Given the description of an element on the screen output the (x, y) to click on. 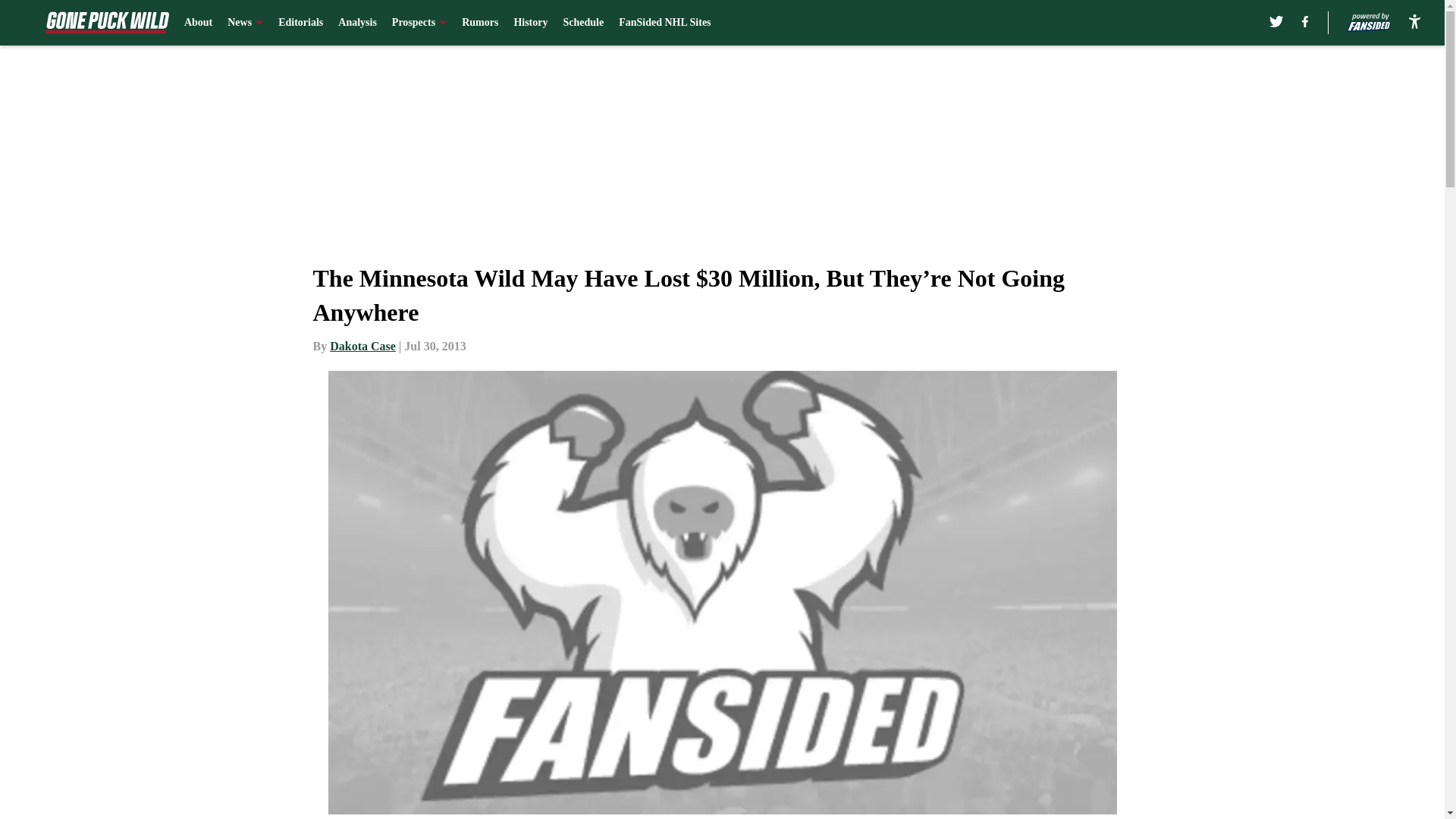
FanSided NHL Sites (664, 22)
Rumors (479, 22)
Schedule (583, 22)
Dakota Case (363, 345)
About (198, 22)
History (530, 22)
Editorials (300, 22)
Analysis (357, 22)
